Given the description of an element on the screen output the (x, y) to click on. 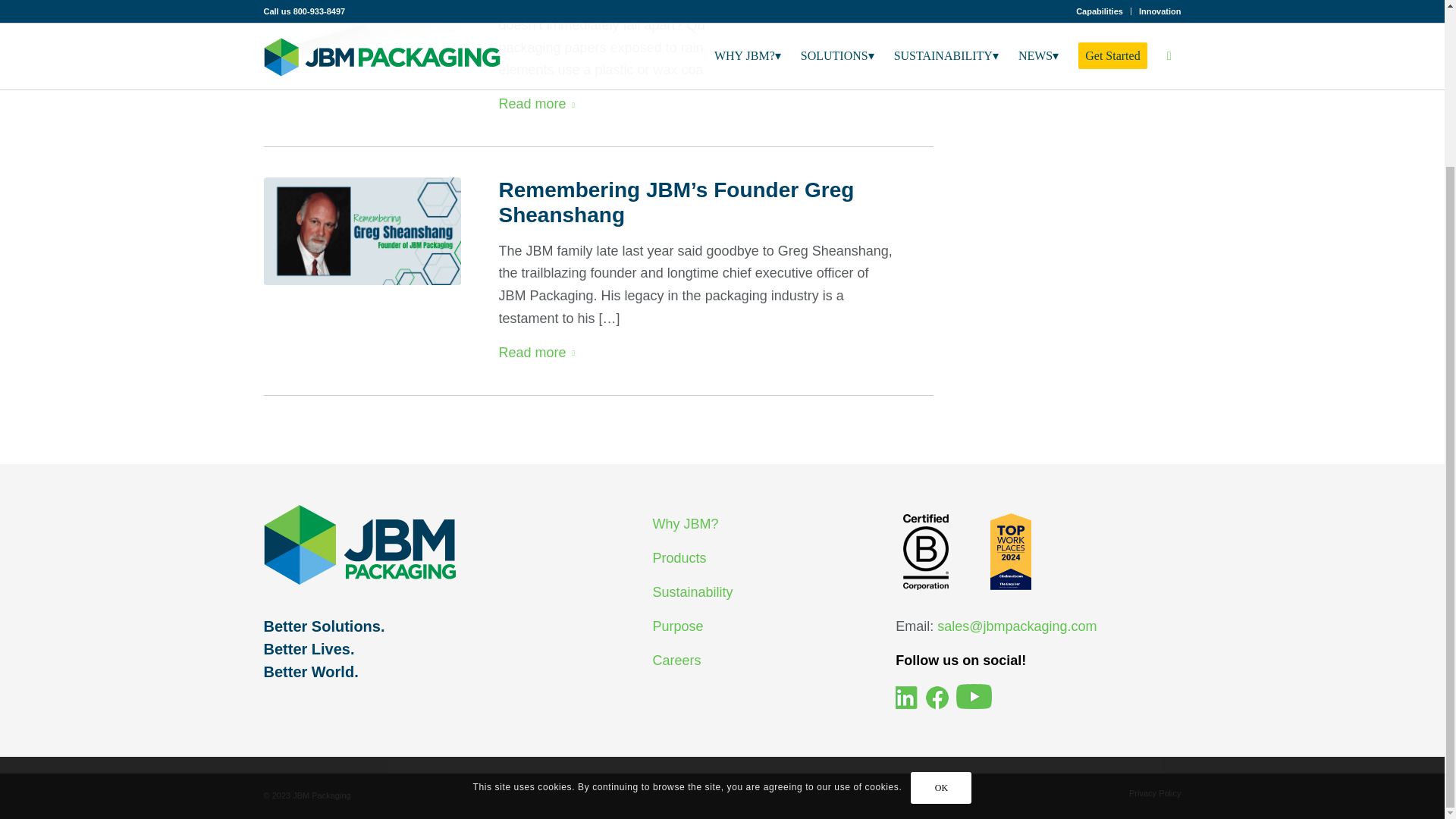
Remembering Greg Sheanshang (362, 230)
